Given the description of an element on the screen output the (x, y) to click on. 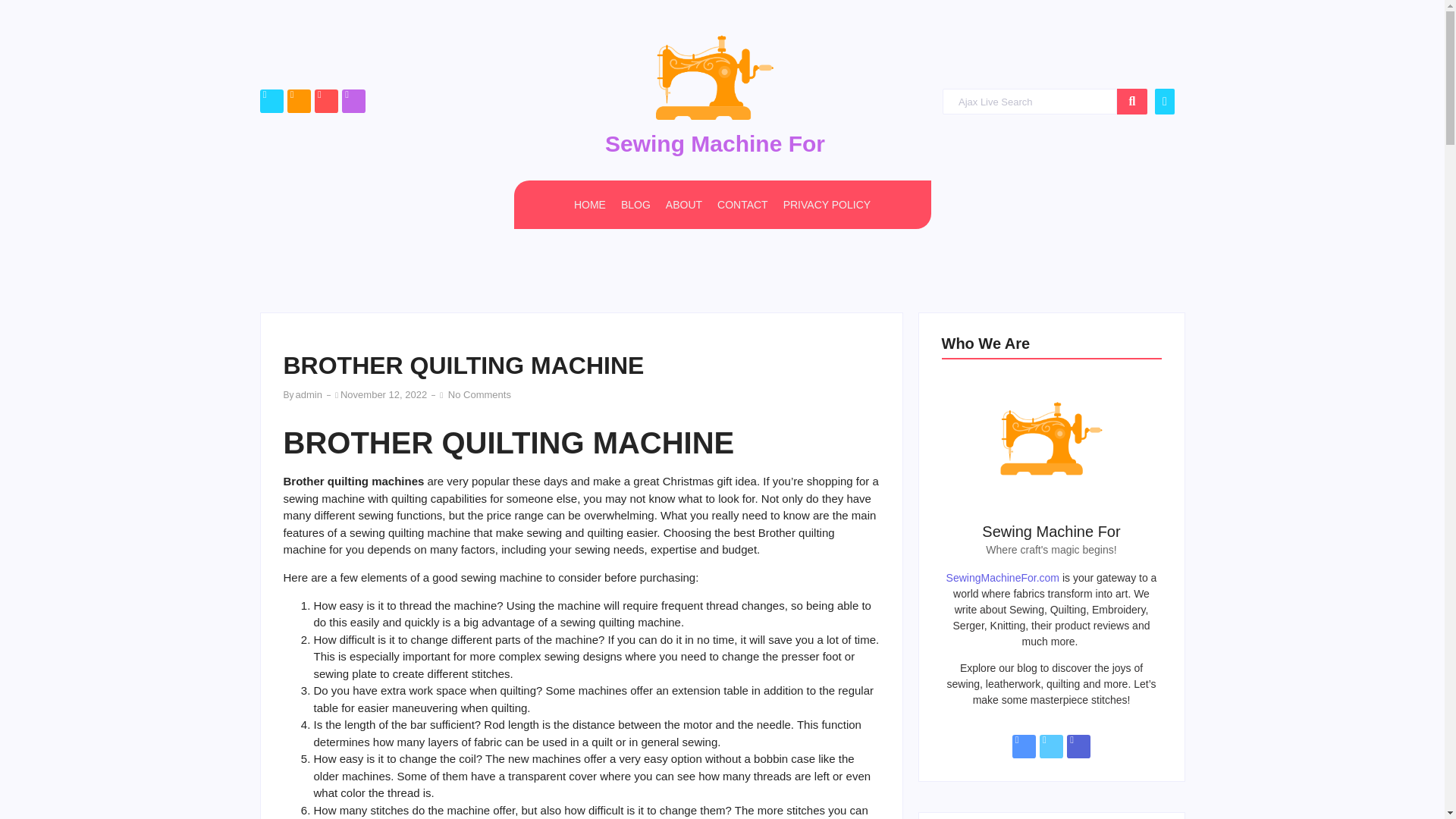
Search (1029, 101)
CONTACT (742, 204)
ABOUT (683, 204)
PRIVACY POLICY (826, 204)
HOME (589, 204)
Admin (308, 394)
No Comments (478, 394)
